Given the description of an element on the screen output the (x, y) to click on. 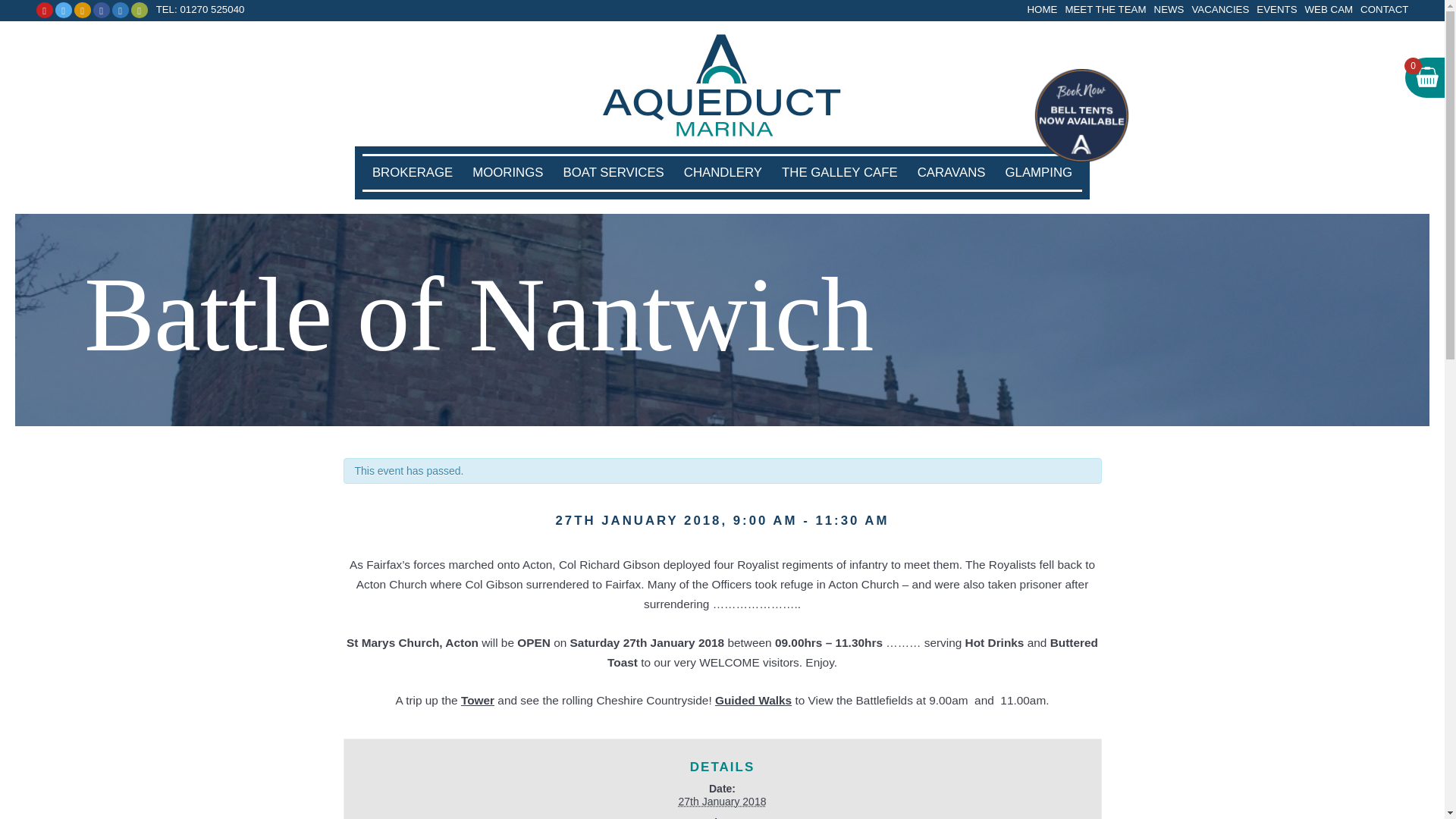
GLAMPING (1037, 172)
NEWS (1166, 8)
BROKERAGE (412, 172)
THE GALLEY CAFE (839, 172)
CARAVANS (951, 172)
VACANCIES (1216, 8)
MEET THE TEAM (1101, 8)
MOORINGS (508, 172)
BOAT SERVICES (612, 172)
EVENTS (1273, 8)
WEB CAM (1325, 8)
HOME (1039, 8)
CHANDLERY (722, 172)
2018-01-27 (721, 801)
CONTACT (1379, 8)
